Given the description of an element on the screen output the (x, y) to click on. 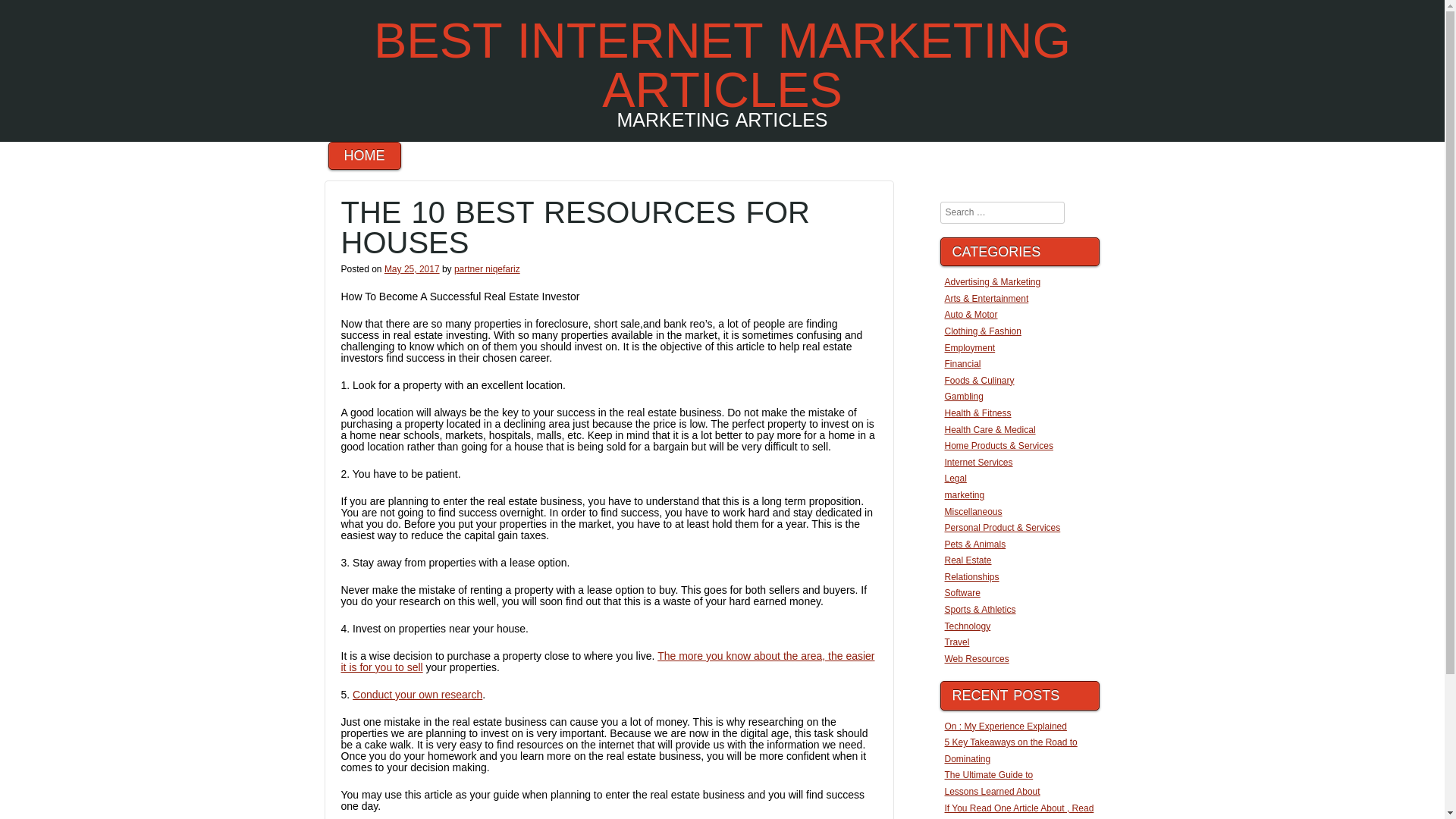
May 25, 2017 (411, 268)
HOME (364, 155)
BEST INTERNET MARKETING ARTICLES (722, 65)
Search (44, 13)
Software (961, 593)
Real Estate (967, 560)
Travel (956, 642)
Relationships (971, 576)
Internet Services (978, 462)
Legal (955, 478)
Technology (967, 625)
marketing (964, 494)
View all posts by partner niqefariz (486, 268)
Gambling (964, 396)
Conduct your own research (416, 694)
